Given the description of an element on the screen output the (x, y) to click on. 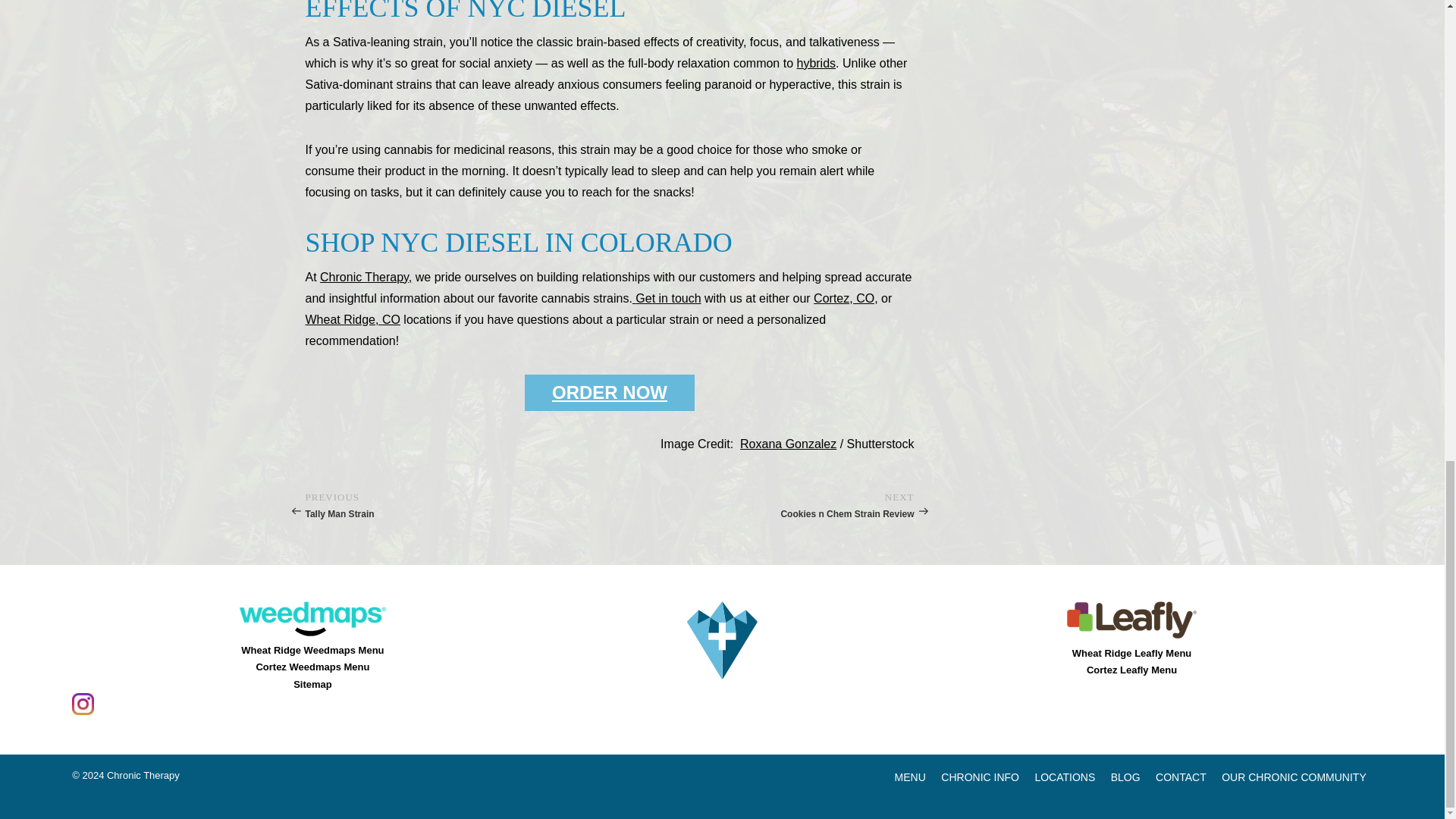
igg (82, 703)
